Given the description of an element on the screen output the (x, y) to click on. 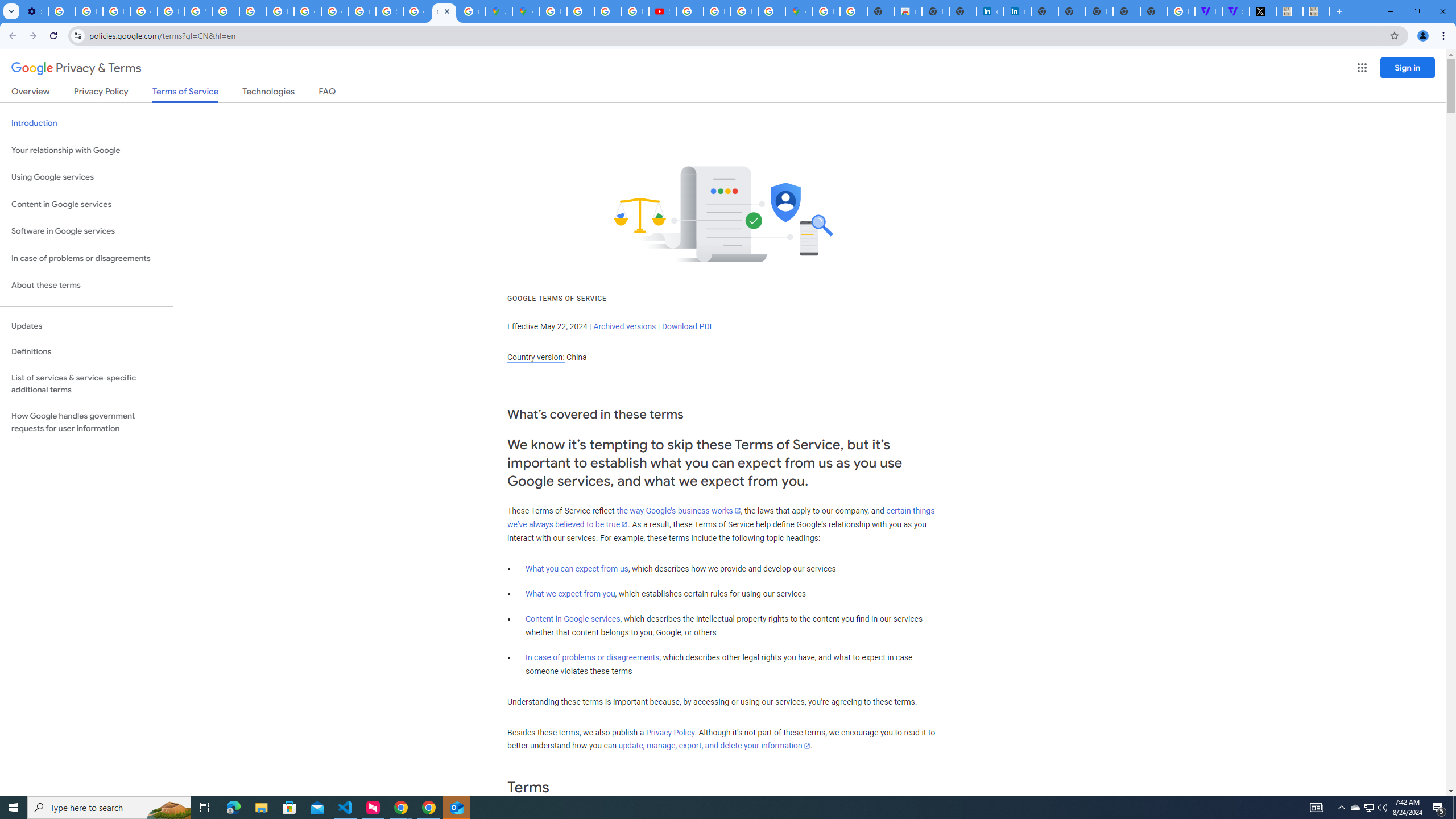
Your relationship with Google (86, 150)
Google Maps (799, 11)
About these terms (86, 284)
Subscriptions - YouTube (662, 11)
Chrome Web Store (908, 11)
